Given the description of an element on the screen output the (x, y) to click on. 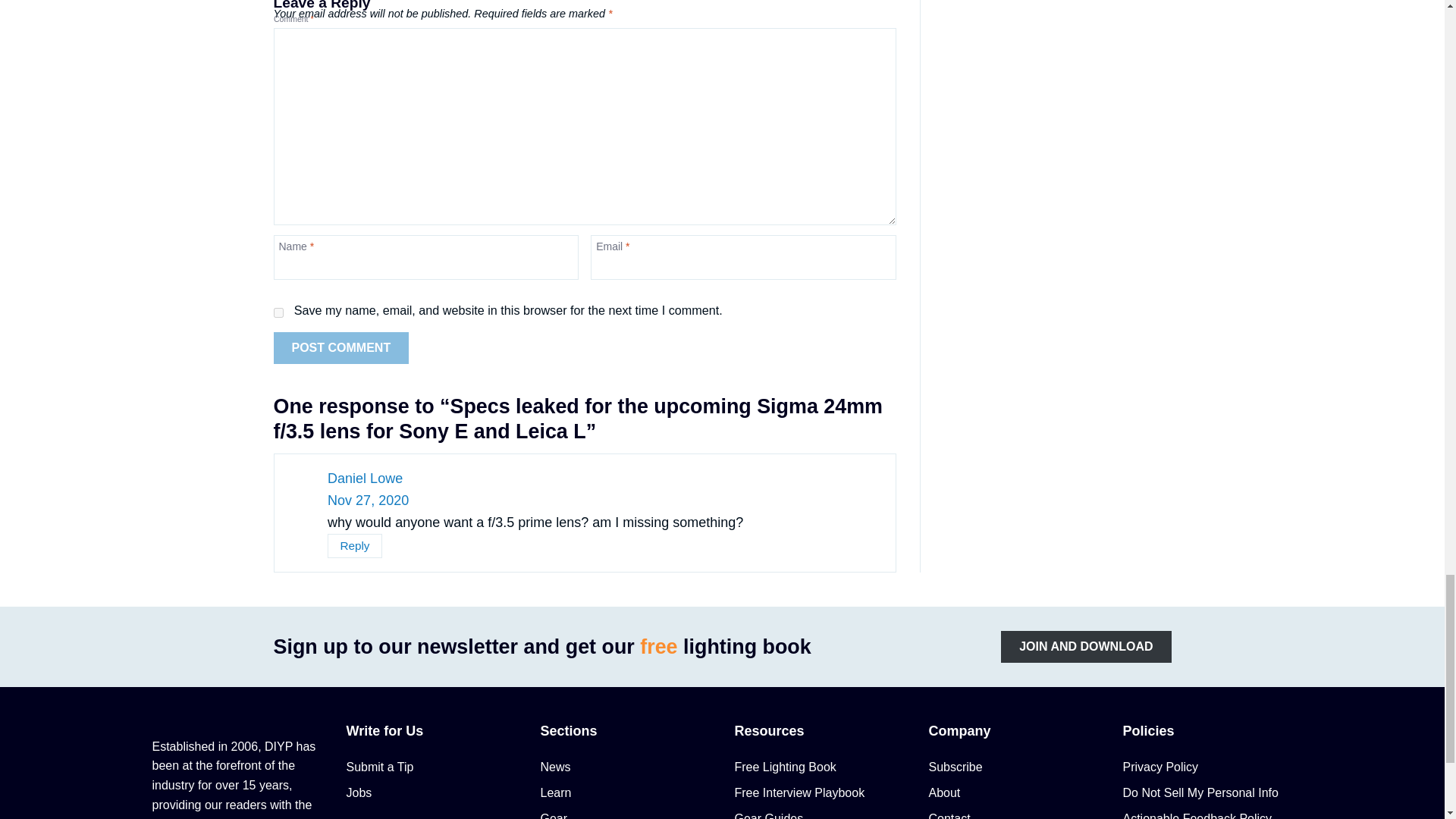
yes (277, 312)
Post Comment (341, 347)
